Given the description of an element on the screen output the (x, y) to click on. 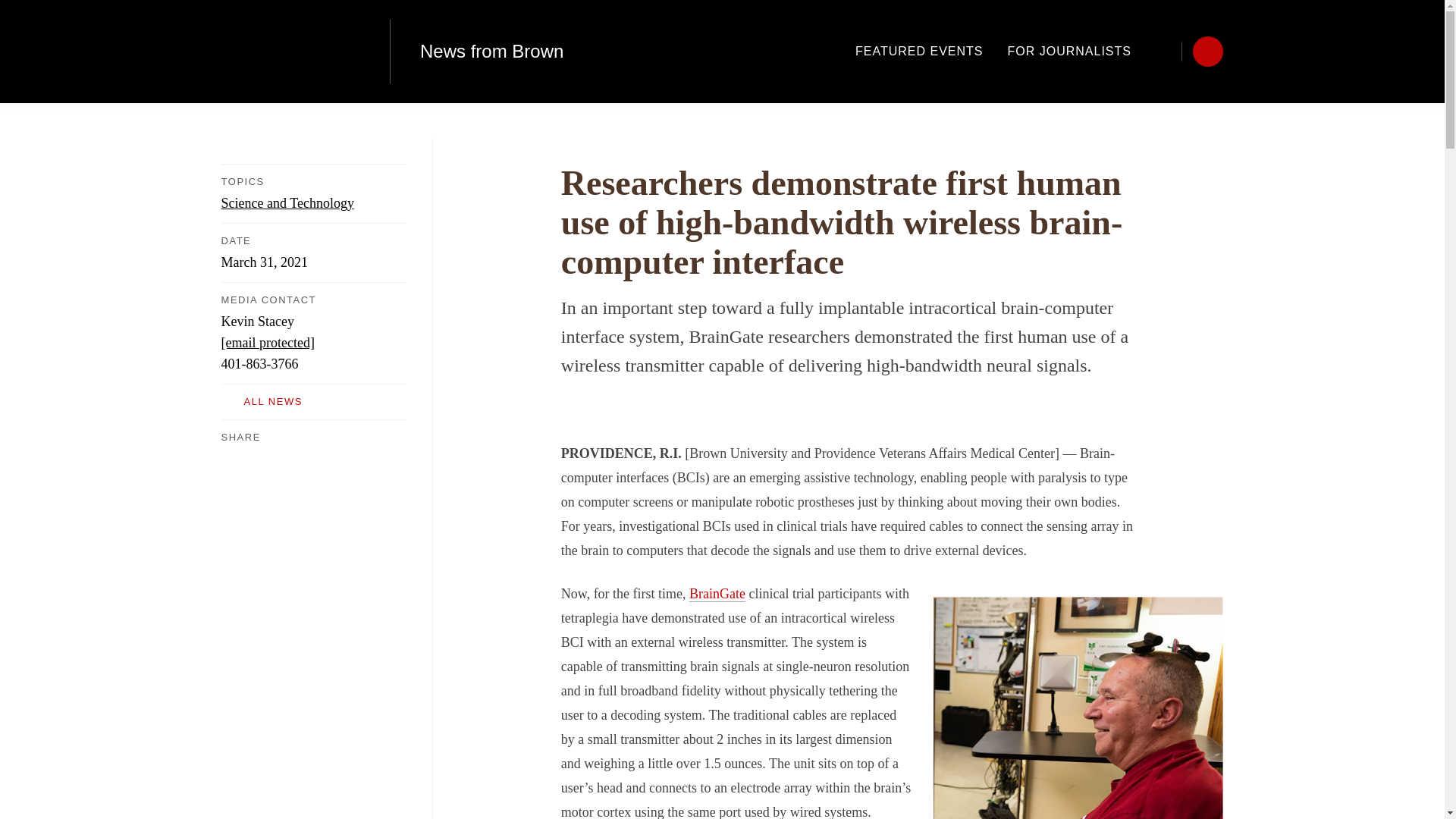
Search (1165, 51)
FOR JOURNALISTS (1069, 51)
Brown University (290, 51)
Menu (1207, 51)
Linkedin (290, 456)
401-863-3766 (259, 363)
News from Brown (491, 50)
BrainGate (716, 593)
Science and Technology (287, 202)
Facebook (229, 456)
